Given the description of an element on the screen output the (x, y) to click on. 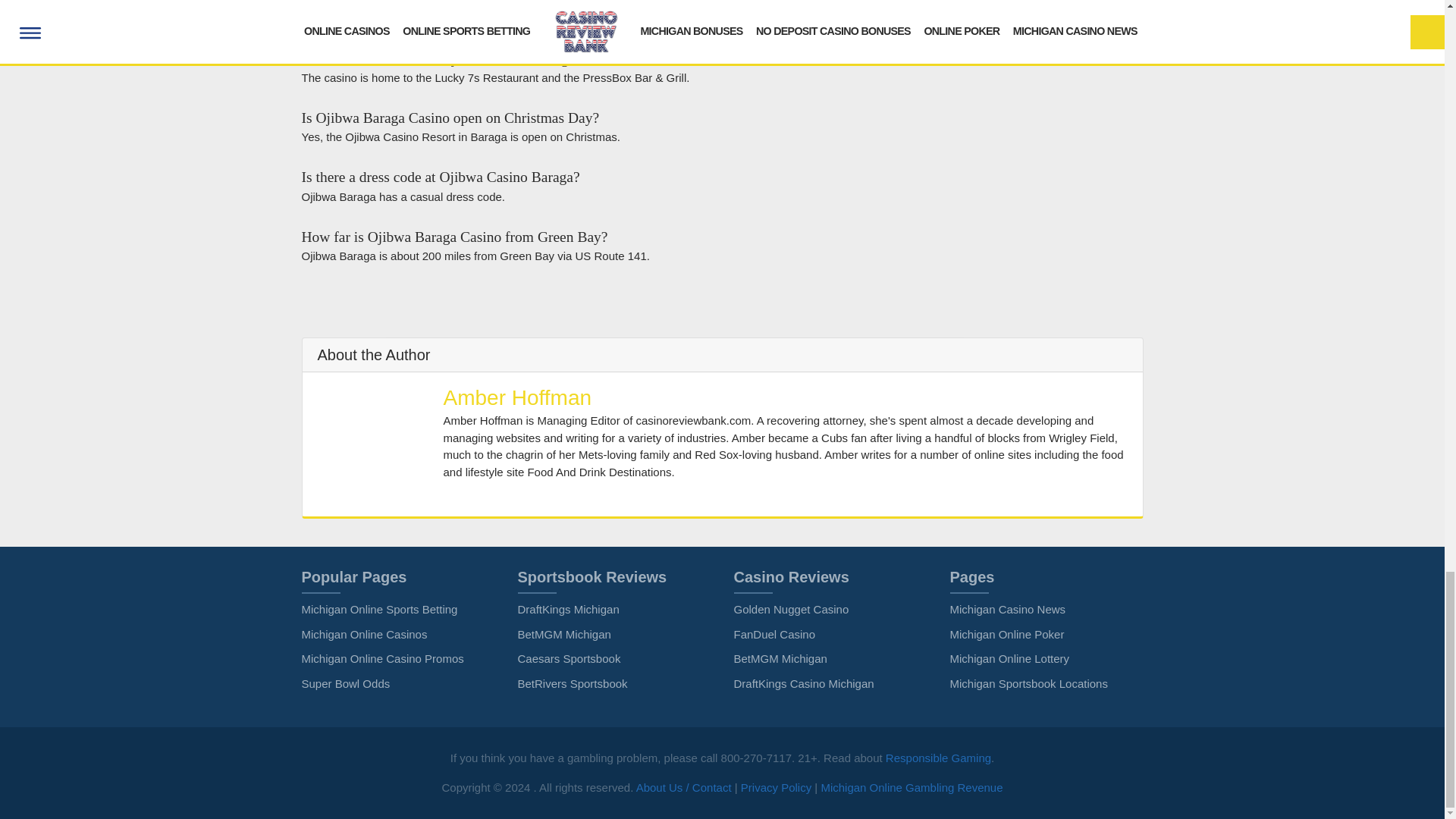
Michigan Online Casinos (364, 634)
Amber Hoffman (516, 397)
Michigan Online Sports Betting (379, 608)
